Given the description of an element on the screen output the (x, y) to click on. 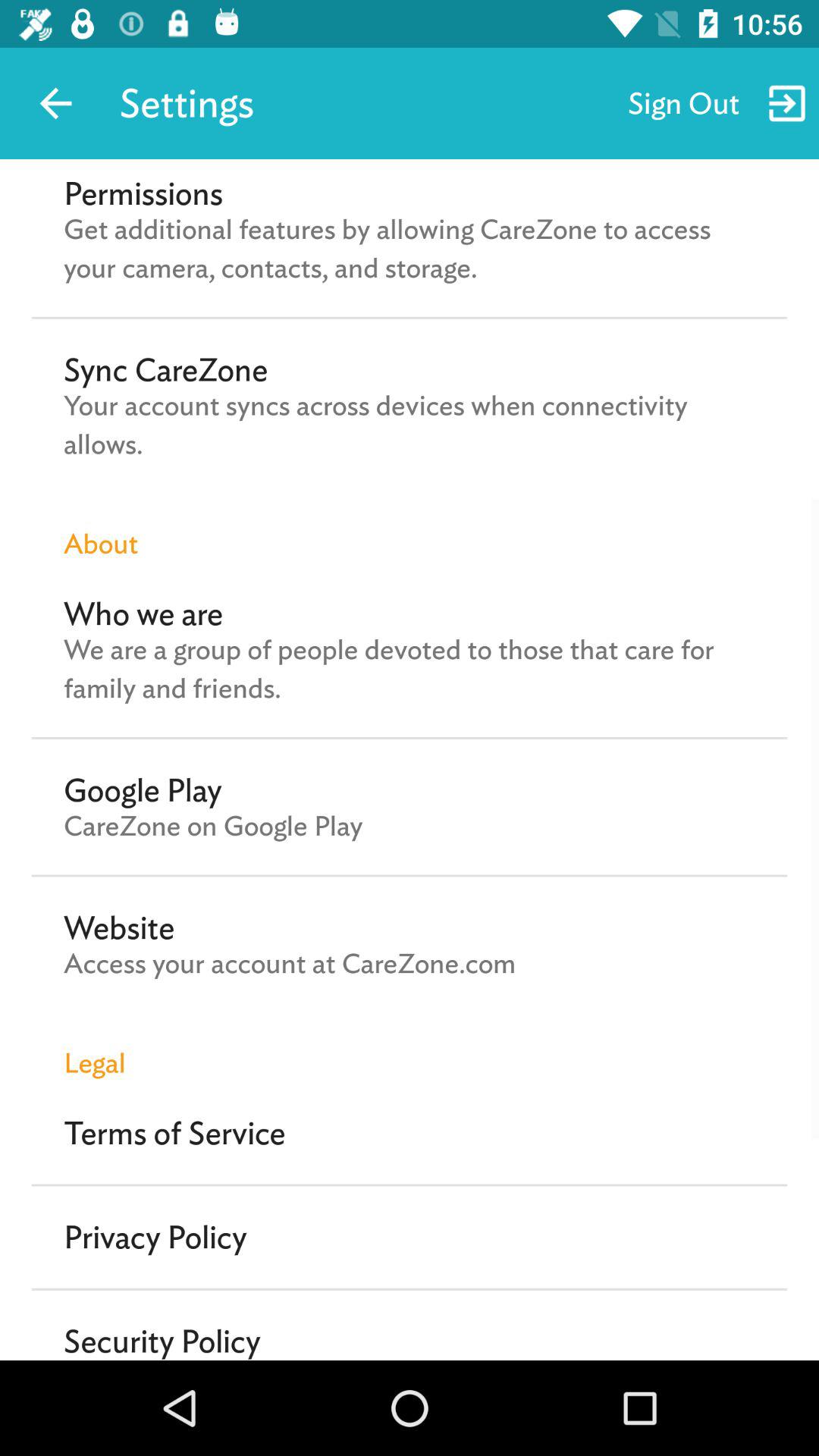
turn on the permissions icon (142, 193)
